Given the description of an element on the screen output the (x, y) to click on. 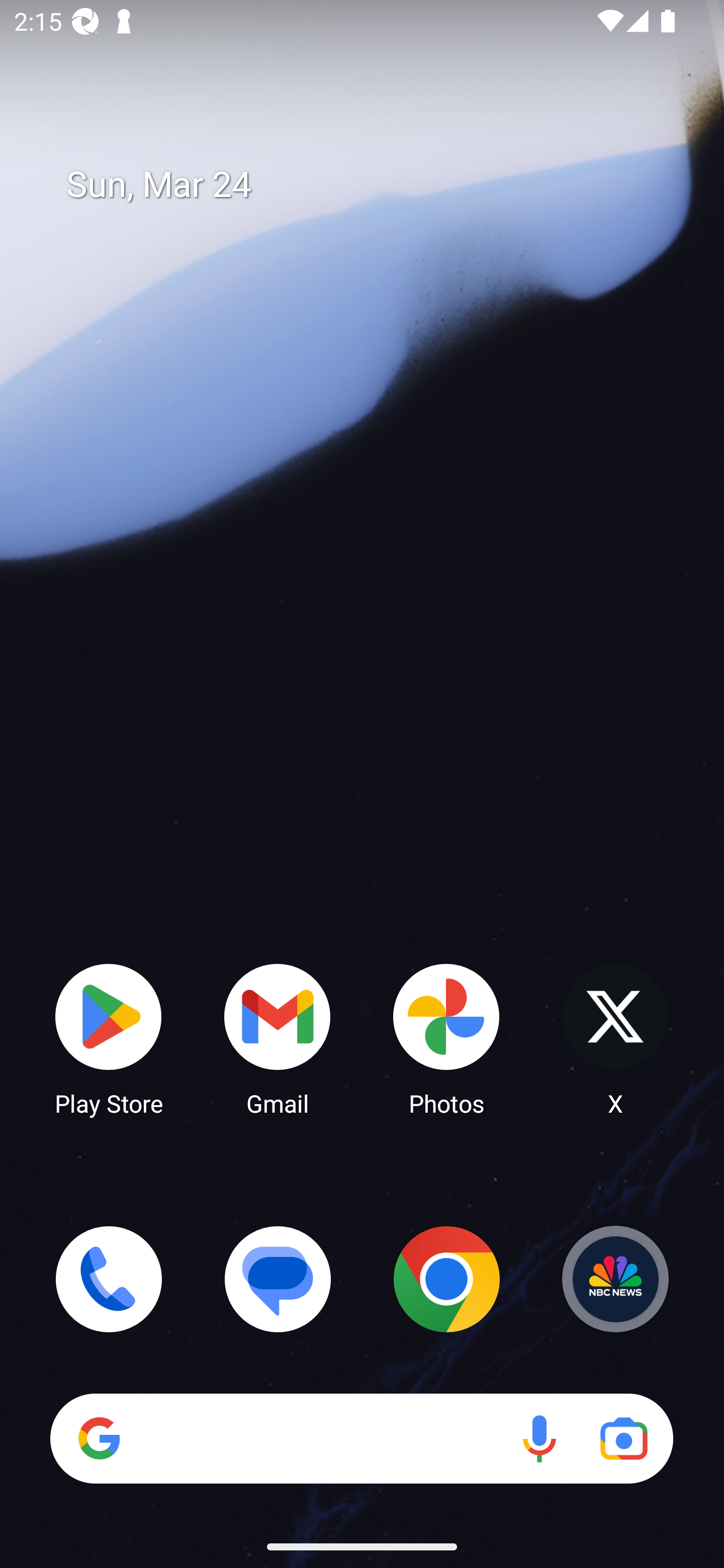
Sun, Mar 24 (375, 184)
Play Store (108, 1038)
Gmail (277, 1038)
Photos (445, 1038)
X (615, 1038)
Phone (108, 1279)
Messages (277, 1279)
Chrome (446, 1279)
NBC NEWS Predicted app: NBC NEWS (615, 1279)
Voice search (539, 1438)
Google Lens (623, 1438)
